Given the description of an element on the screen output the (x, y) to click on. 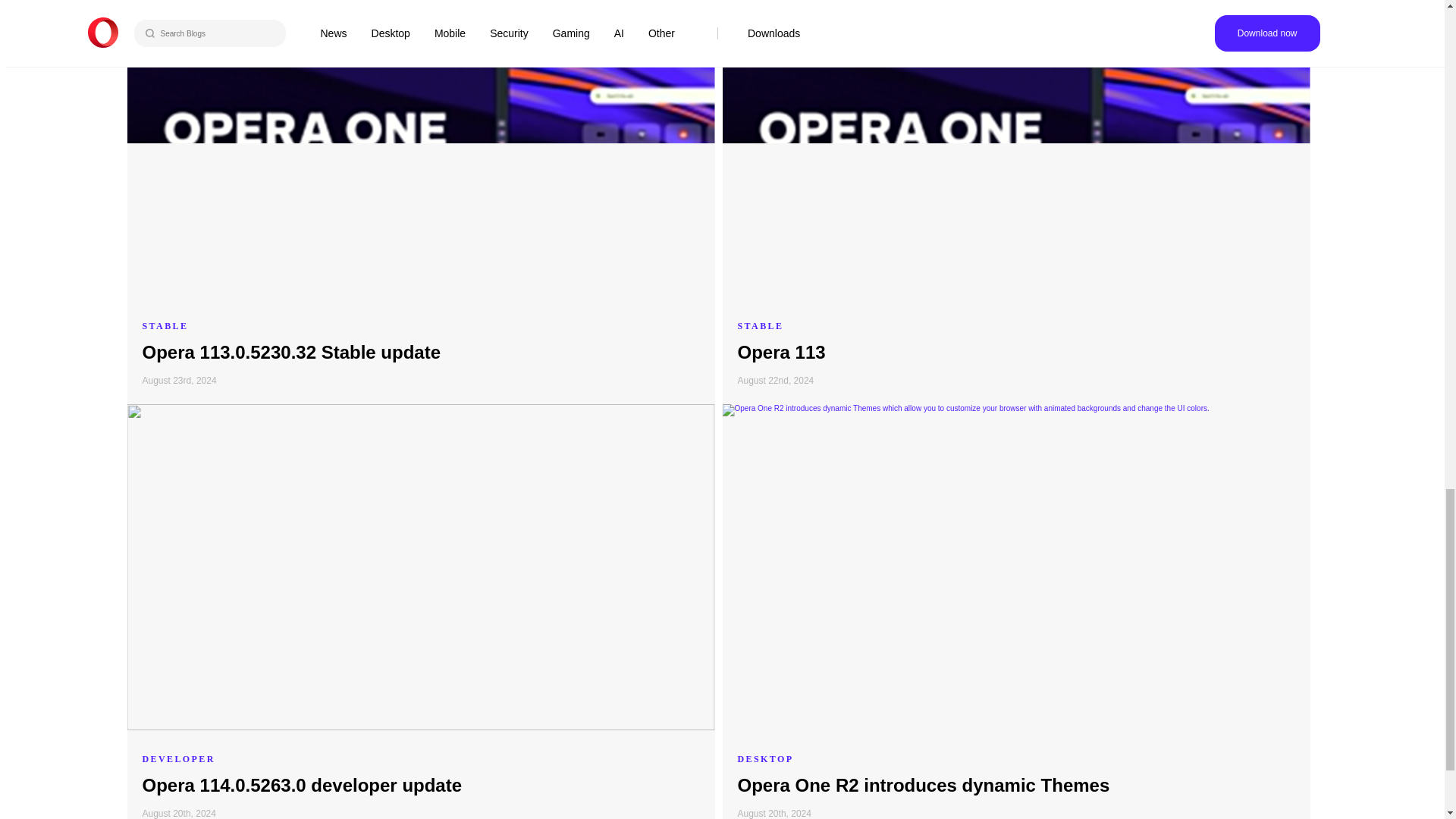
Permanent Link to Opera 113.0.5230.32 Stable update (291, 352)
Permanent Link to Opera 113 (780, 352)
Permanent Link to Opera One R2 introduces dynamic Themes (922, 784)
